Given the description of an element on the screen output the (x, y) to click on. 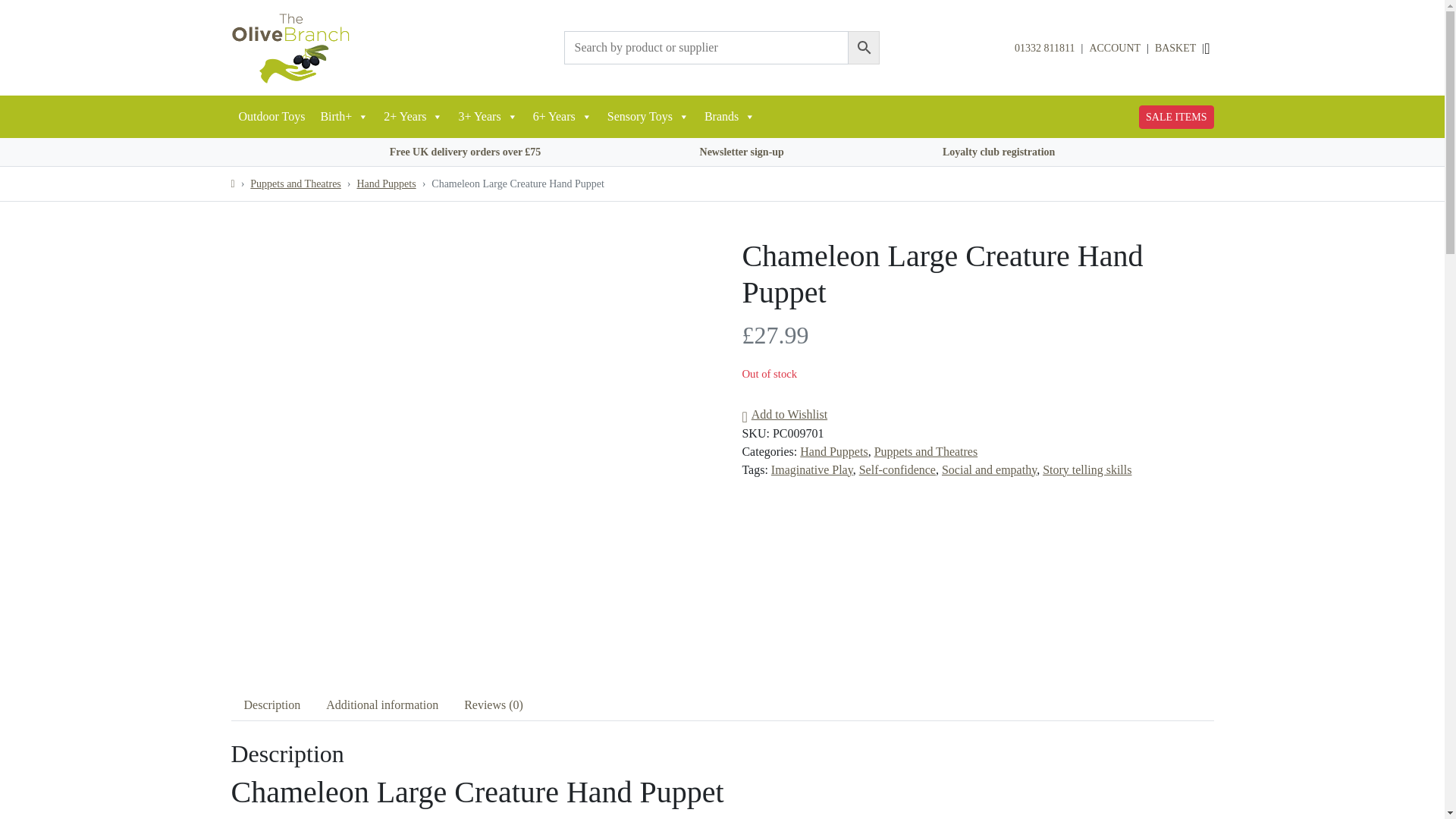
01332 811811 (1044, 48)
ACCOUNT (1114, 48)
Sensory Toys (648, 116)
Outdoor Toys (271, 116)
BASKET (1174, 48)
